Given the description of an element on the screen output the (x, y) to click on. 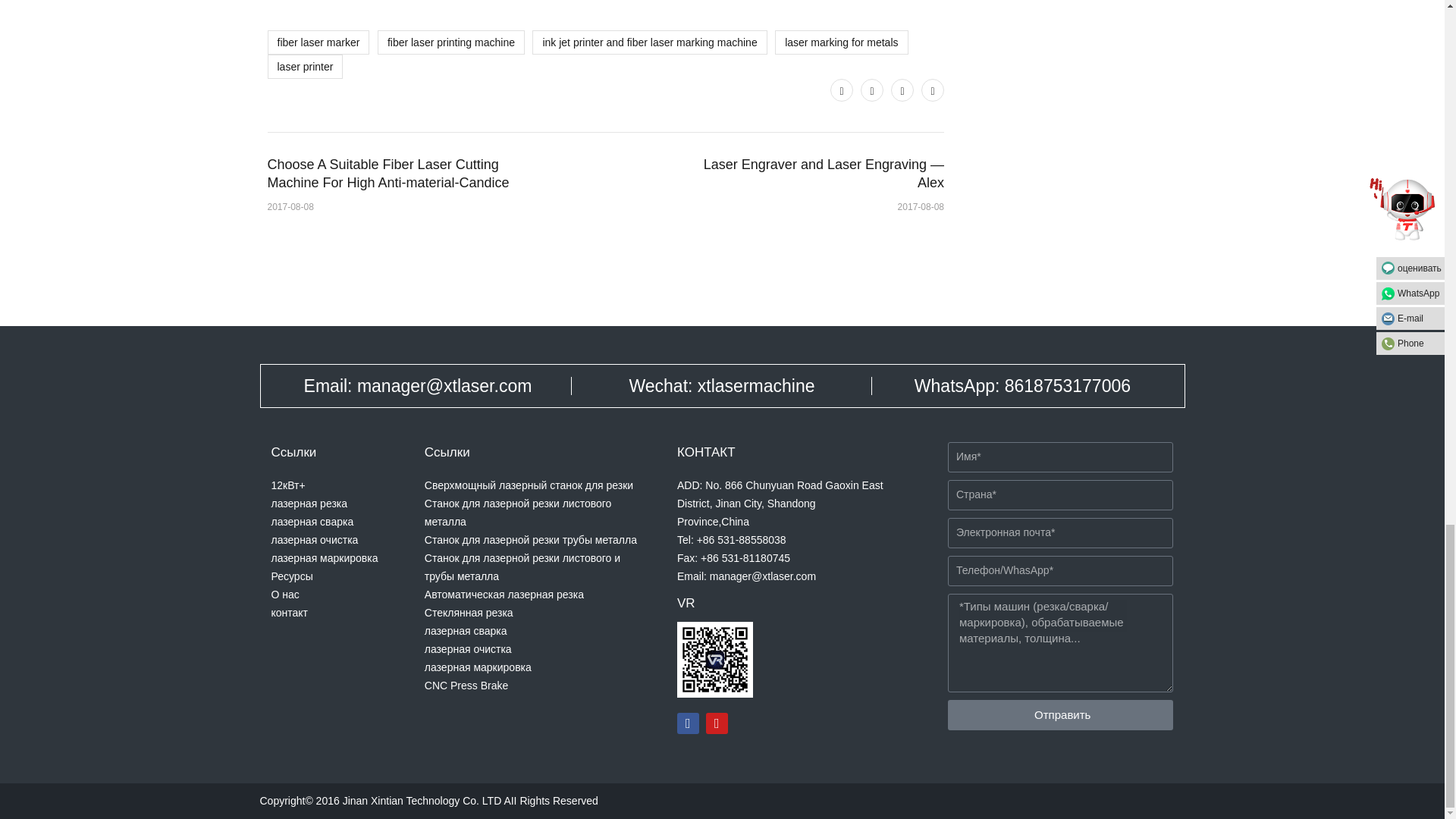
Pinterest (902, 88)
LinkedIn (932, 88)
Twitter (841, 88)
Facebook (871, 88)
